Given the description of an element on the screen output the (x, y) to click on. 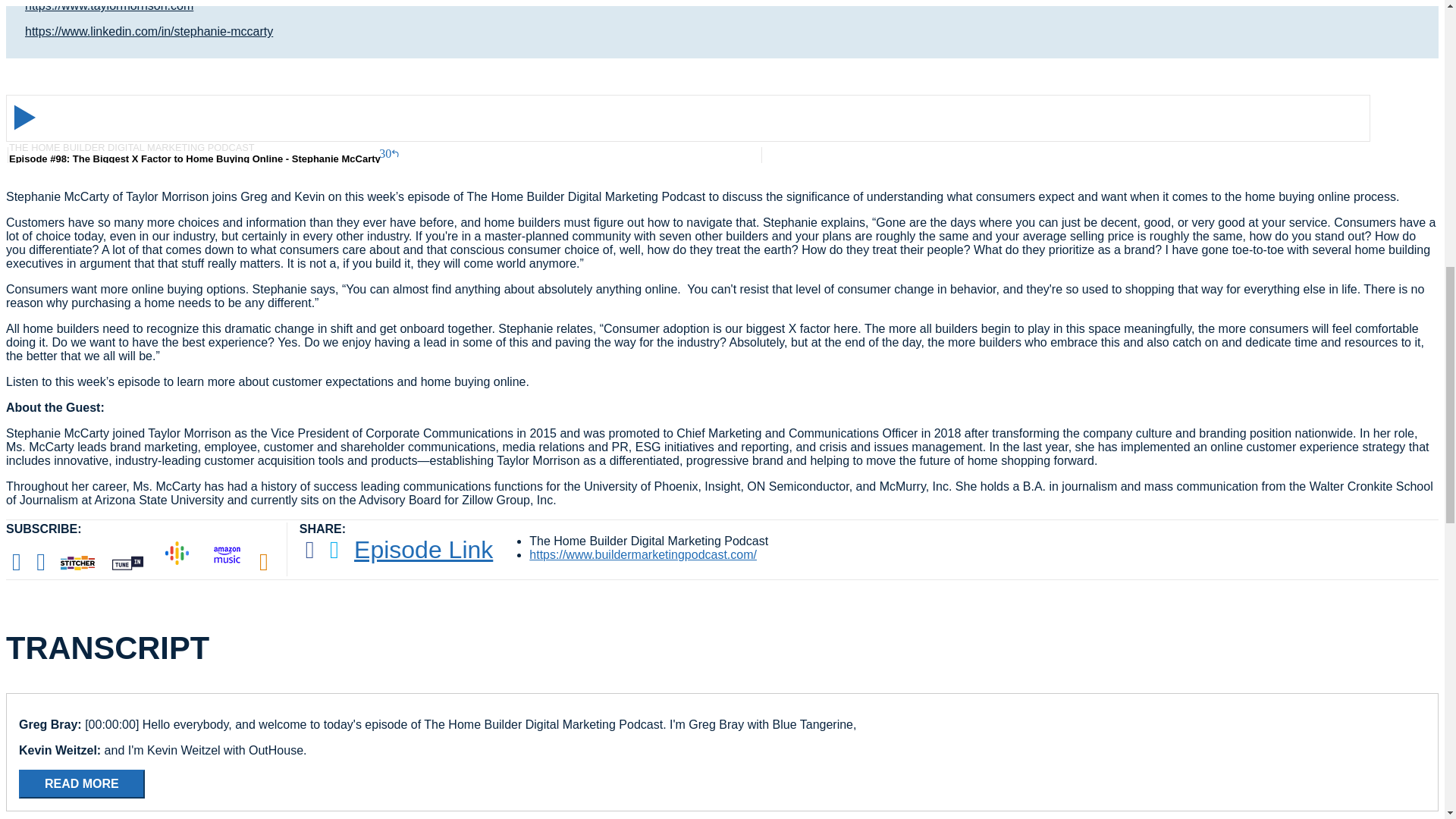
Share This episode on Facebook (309, 550)
Follow on Spotify (40, 561)
Subscribe to Apple podcast (16, 561)
Listen on Amazon Music (226, 557)
Follow on Stitcher (77, 561)
Follow on Tunein (127, 561)
Episode Link (423, 550)
Subscribe to Our RSS Feed (264, 561)
READ MORE (81, 783)
Follow on Google Podcasts (177, 556)
Share This episode on Twitter (334, 550)
